Given the description of an element on the screen output the (x, y) to click on. 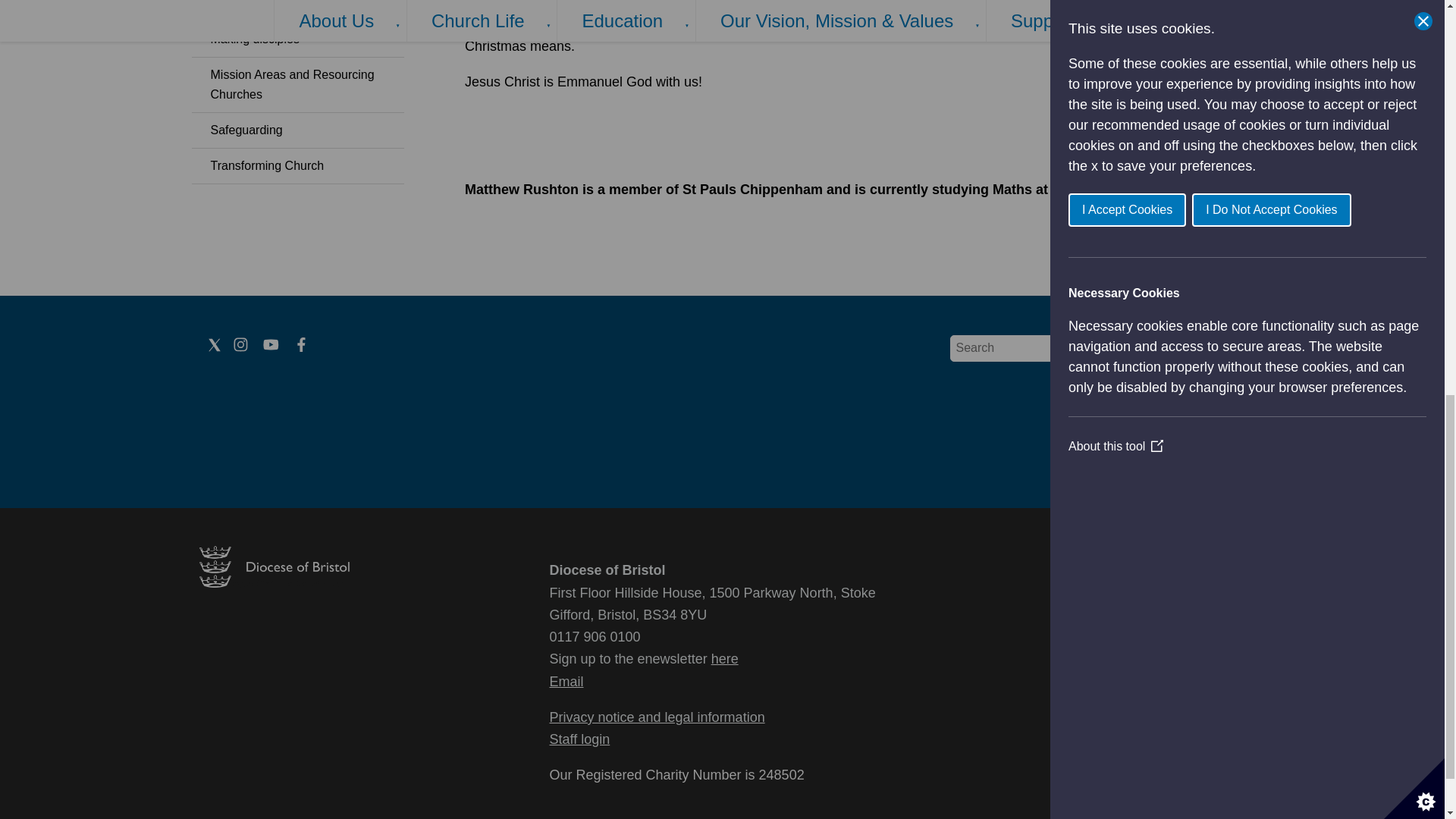
Diocese of Bristol Logo (273, 583)
